Given the description of an element on the screen output the (x, y) to click on. 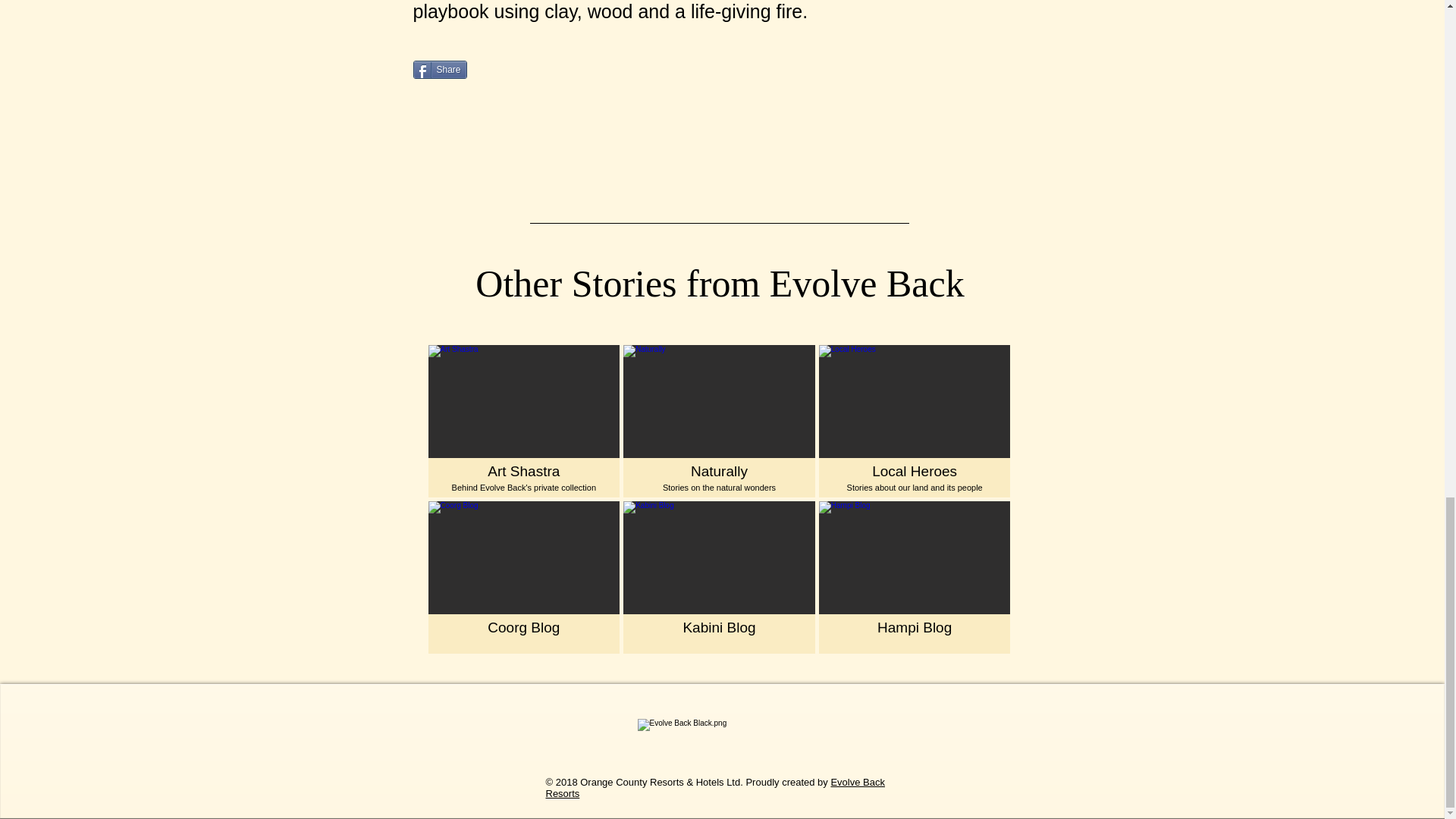
Share (438, 69)
Share (438, 69)
Evolve Back Resorts (715, 787)
Hampi Blog (914, 577)
Kabini Blog (719, 420)
Coorg Blog (914, 420)
